Given the description of an element on the screen output the (x, y) to click on. 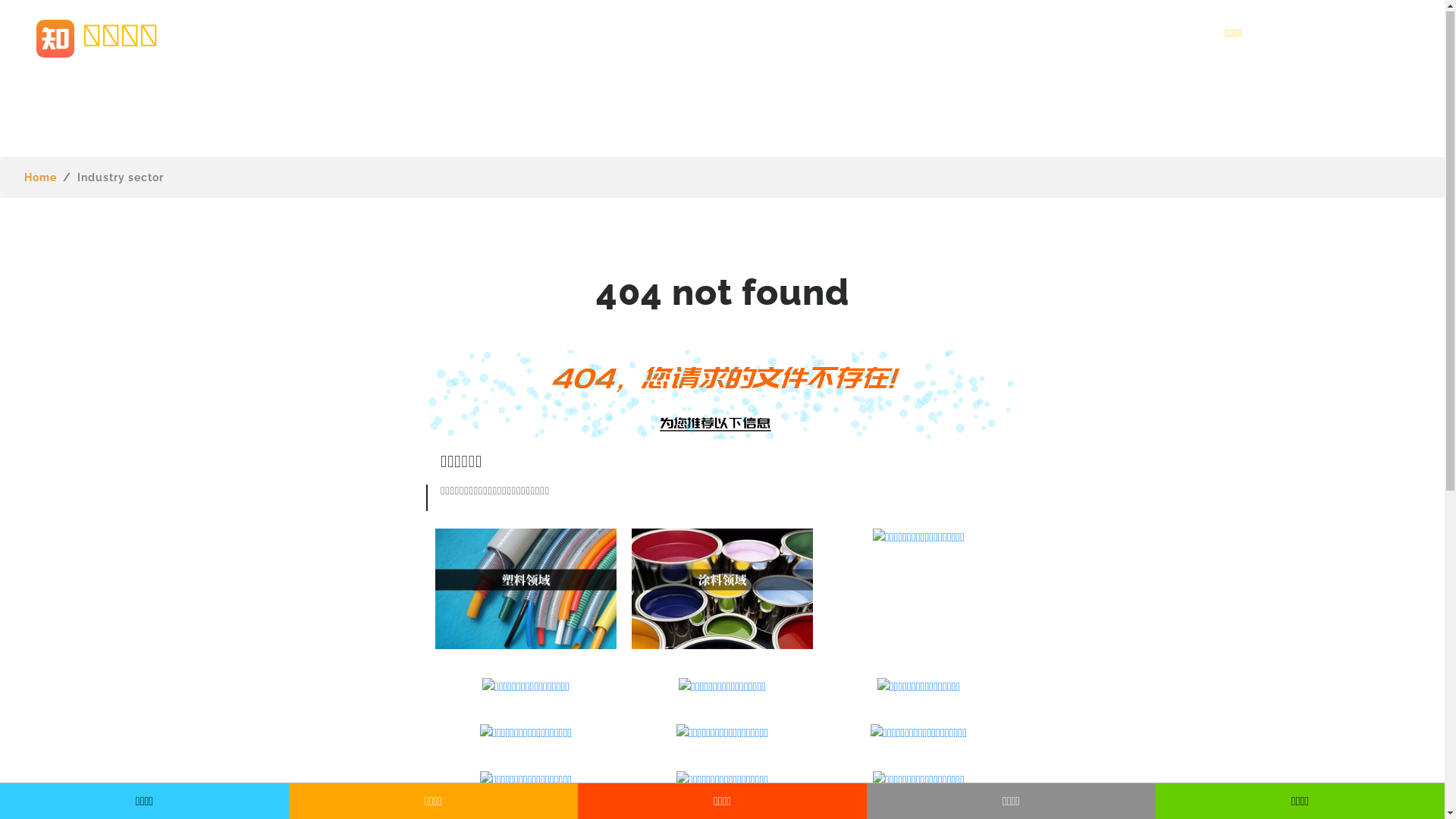
Home Element type: text (40, 177)
